Given the description of an element on the screen output the (x, y) to click on. 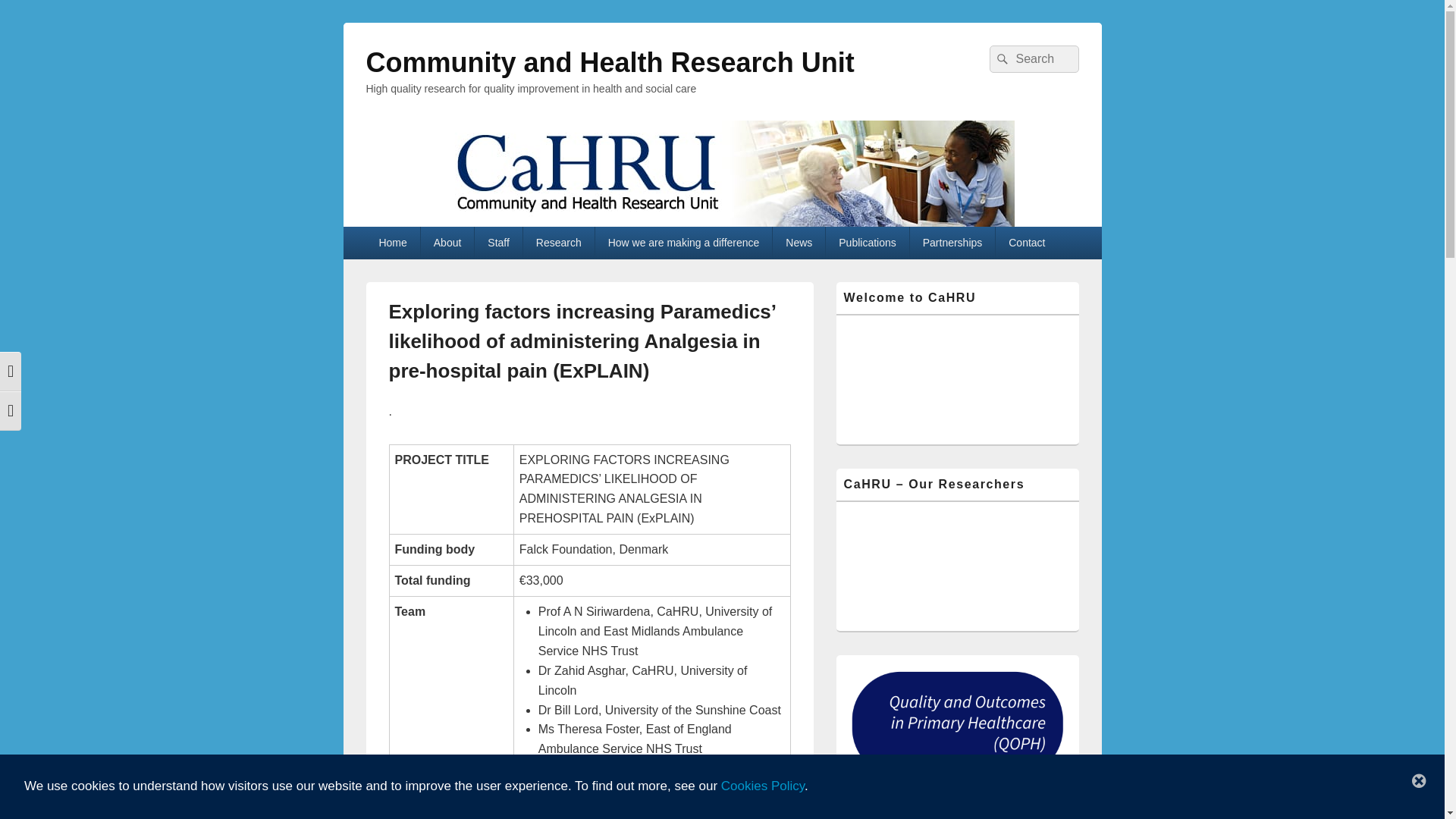
News (799, 242)
Staff (497, 242)
YouTube video player (956, 566)
Contact (1026, 242)
Community and Health Research Unit (609, 61)
Partnerships (952, 242)
How we are making a difference (684, 242)
Home (392, 242)
Publications (866, 242)
